Given the description of an element on the screen output the (x, y) to click on. 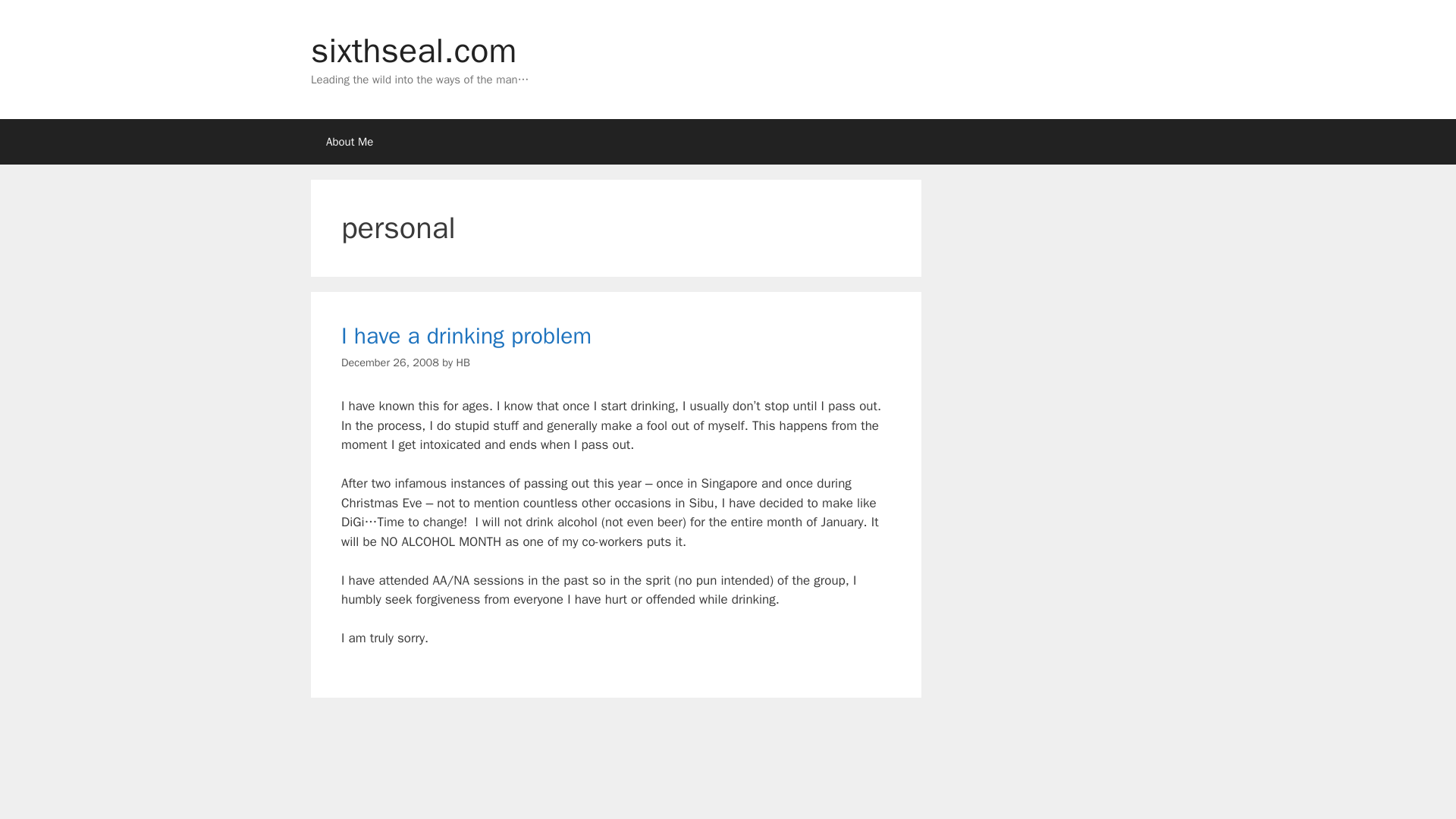
HB (461, 362)
View all posts by HB (461, 362)
About Me (349, 140)
1:39 pm (389, 362)
sixthseal.com (413, 50)
December 26, 2008 (389, 362)
I have a drinking problem (465, 335)
